Given the description of an element on the screen output the (x, y) to click on. 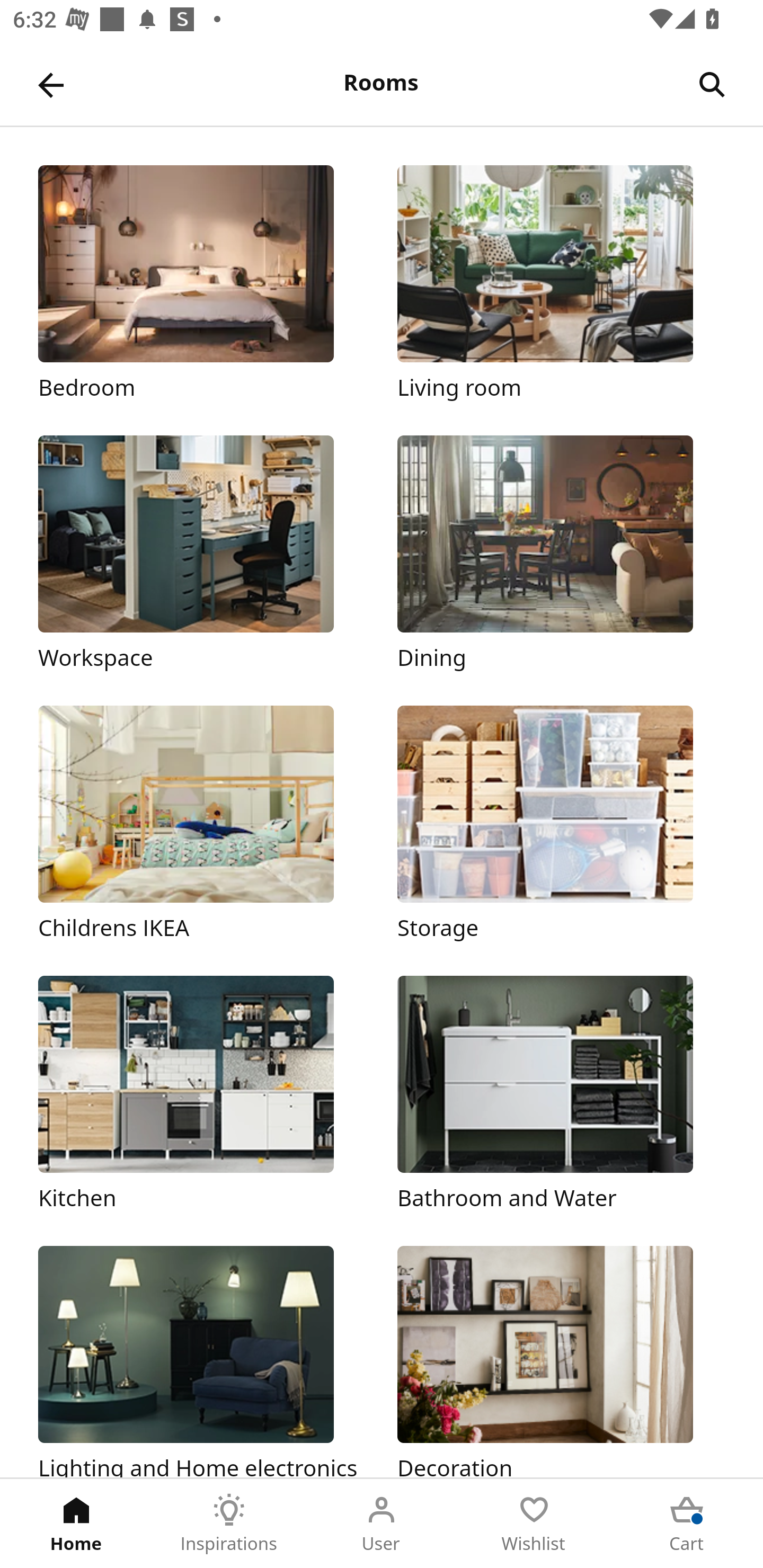
Bedroom (201, 283)
Living room (560, 283)
Workspace (201, 554)
Dining (560, 554)
Childrens IKEA (201, 824)
Storage (560, 824)
Kitchen (201, 1094)
Bathroom and Water (560, 1094)
Lighting and Home electronics (201, 1361)
Decoration (560, 1361)
Home
Tab 1 of 5 (76, 1522)
Inspirations
Tab 2 of 5 (228, 1522)
User
Tab 3 of 5 (381, 1522)
Wishlist
Tab 4 of 5 (533, 1522)
Cart
Tab 5 of 5 (686, 1522)
